Given the description of an element on the screen output the (x, y) to click on. 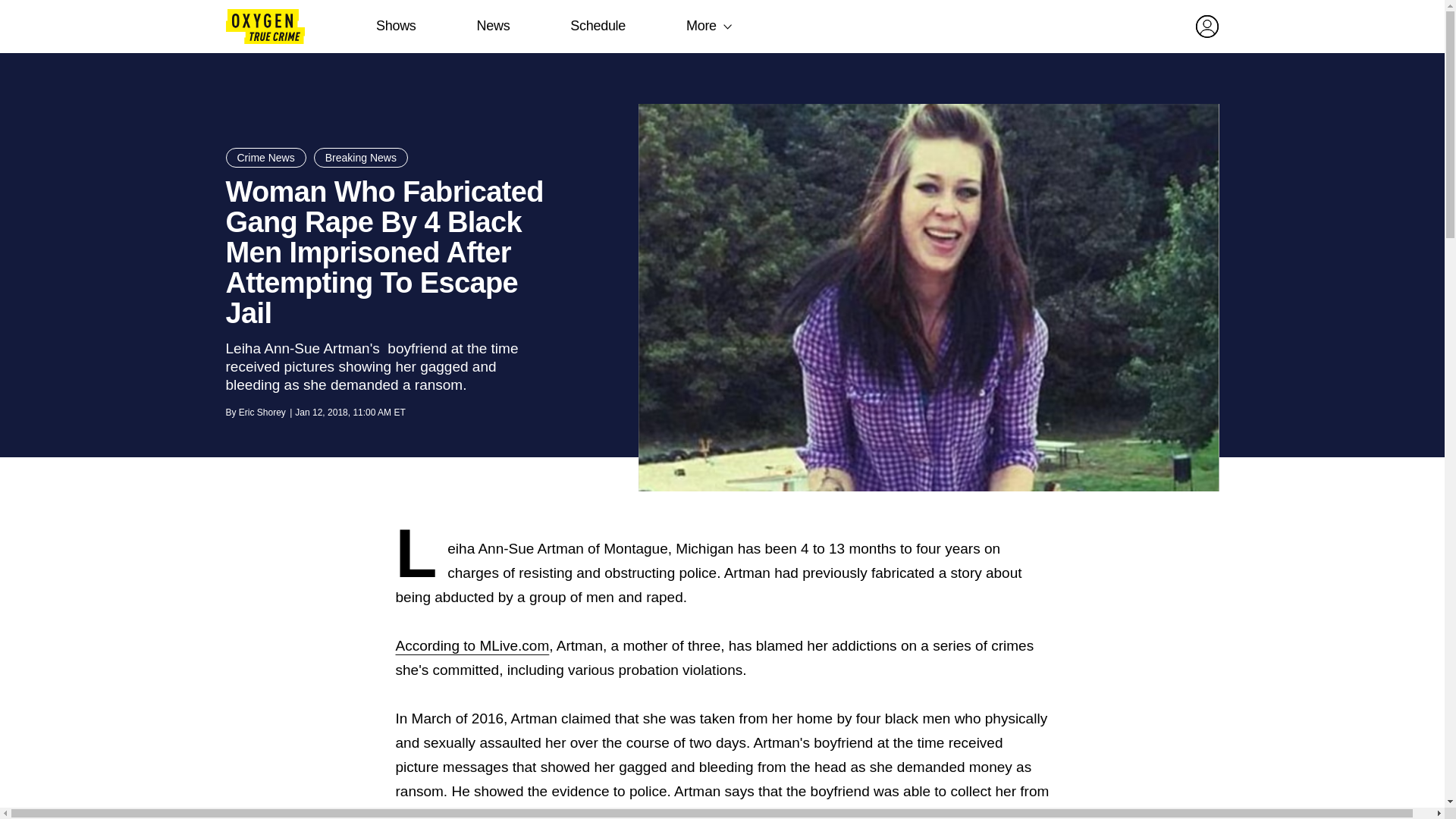
More (700, 26)
Schedule (598, 26)
Shows (395, 26)
Crime News (265, 157)
News (492, 26)
Eric Shorey (261, 412)
Breaking News (360, 157)
According to MLive.com (473, 645)
